Given the description of an element on the screen output the (x, y) to click on. 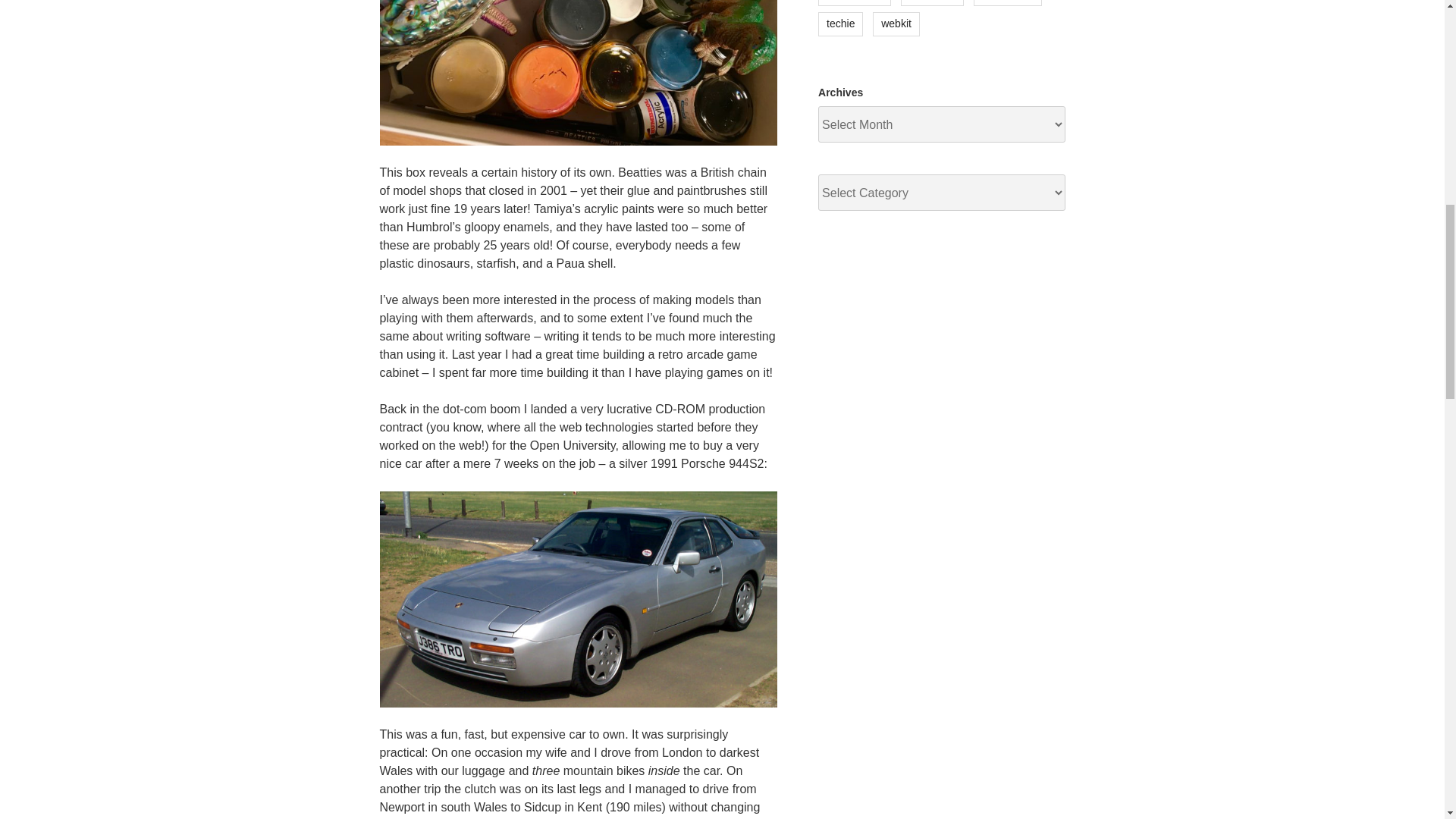
techie (840, 24)
subversion (1008, 2)
webkit (896, 24)
standards (932, 2)
sourceforge (854, 2)
